Given the description of an element on the screen output the (x, y) to click on. 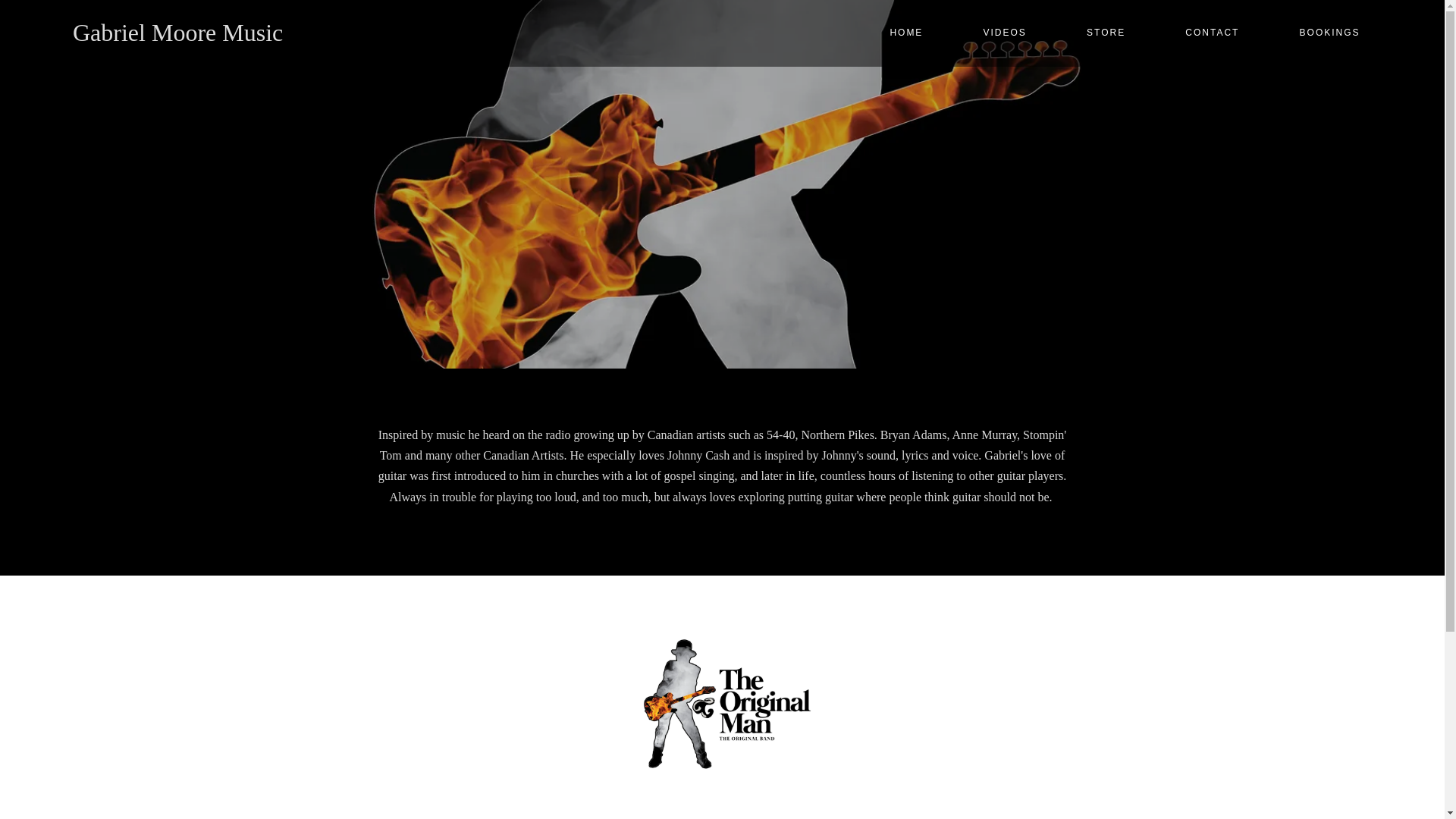
Gabriel Moore Music (177, 32)
BOOKINGS (1329, 32)
VIDEOS (1004, 32)
HOME (905, 32)
CONTACT (1211, 32)
STORE (1106, 32)
